Given the description of an element on the screen output the (x, y) to click on. 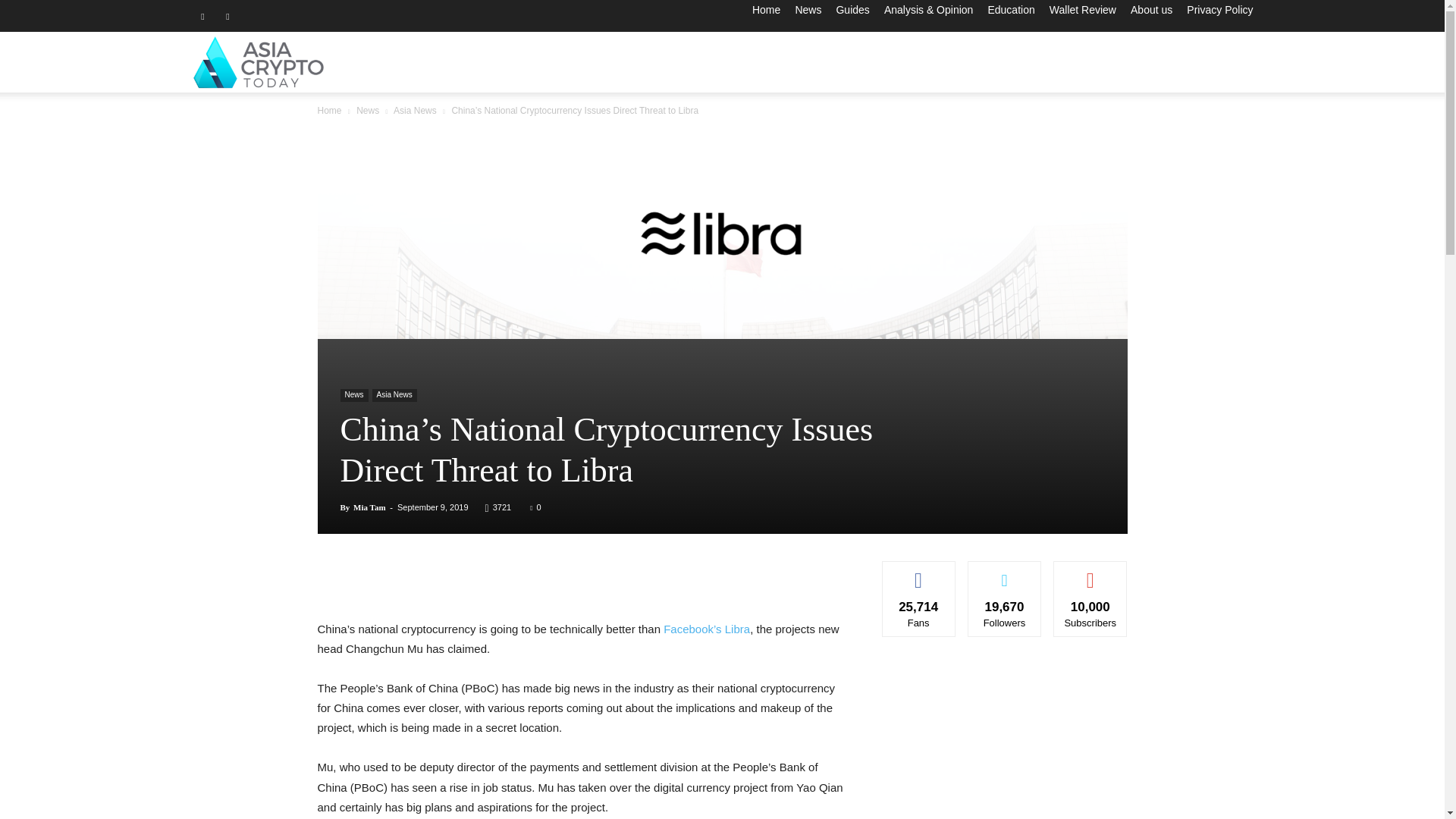
Education (1010, 9)
Wallet Review (1082, 9)
Home (766, 9)
Guides (852, 9)
About us (1151, 9)
Privacy Policy (1219, 9)
News (807, 9)
